Given the description of an element on the screen output the (x, y) to click on. 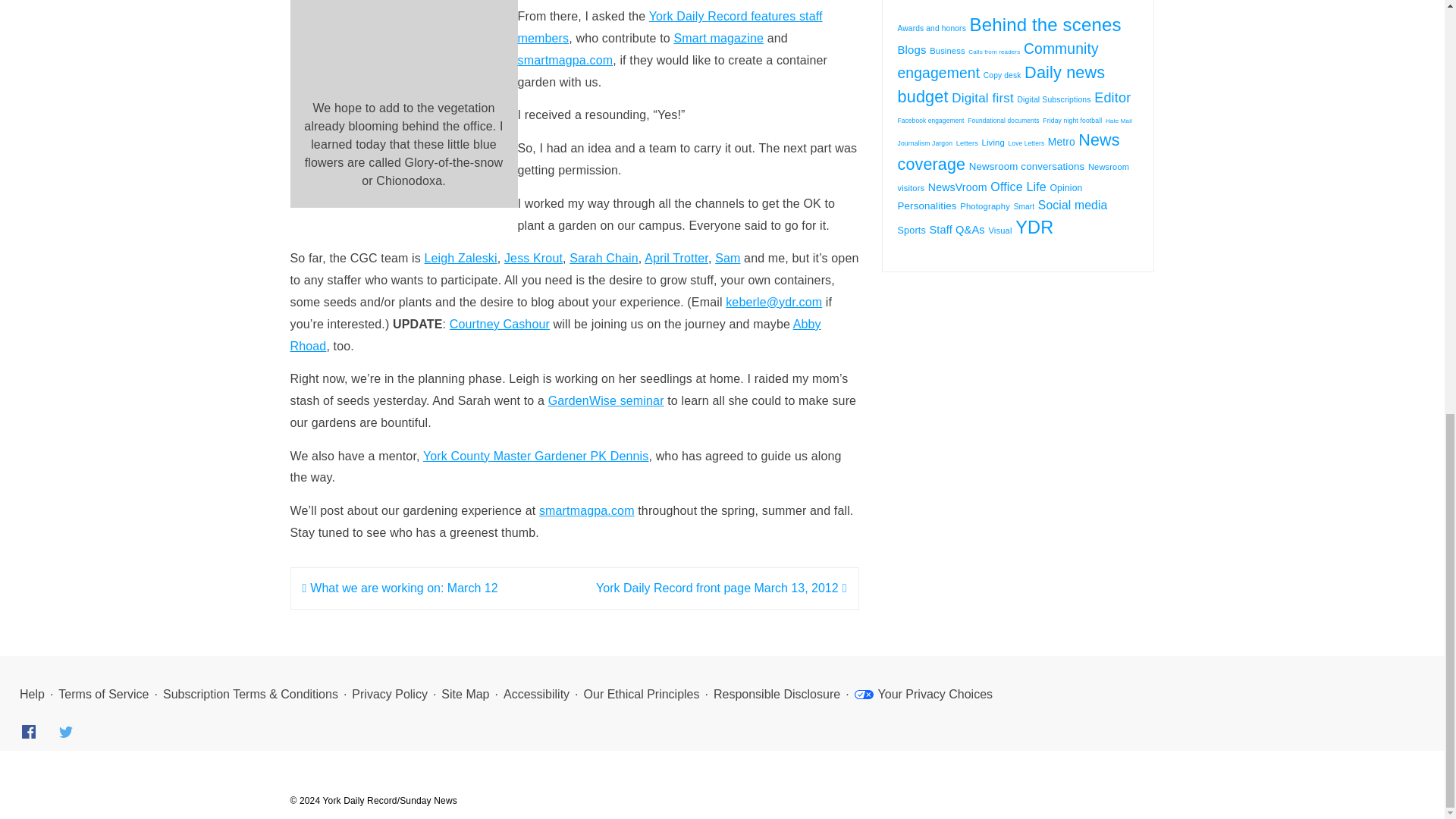
Leigh Zaleski (461, 257)
Jess Krout (532, 257)
Smart magazine (717, 38)
Abby Rhoad (555, 334)
Sam (726, 257)
April Trotter (676, 257)
What we are working on: March 12 (399, 587)
smartmagpa.com (586, 510)
GardenWise seminar (605, 400)
flowers (403, 45)
